Given the description of an element on the screen output the (x, y) to click on. 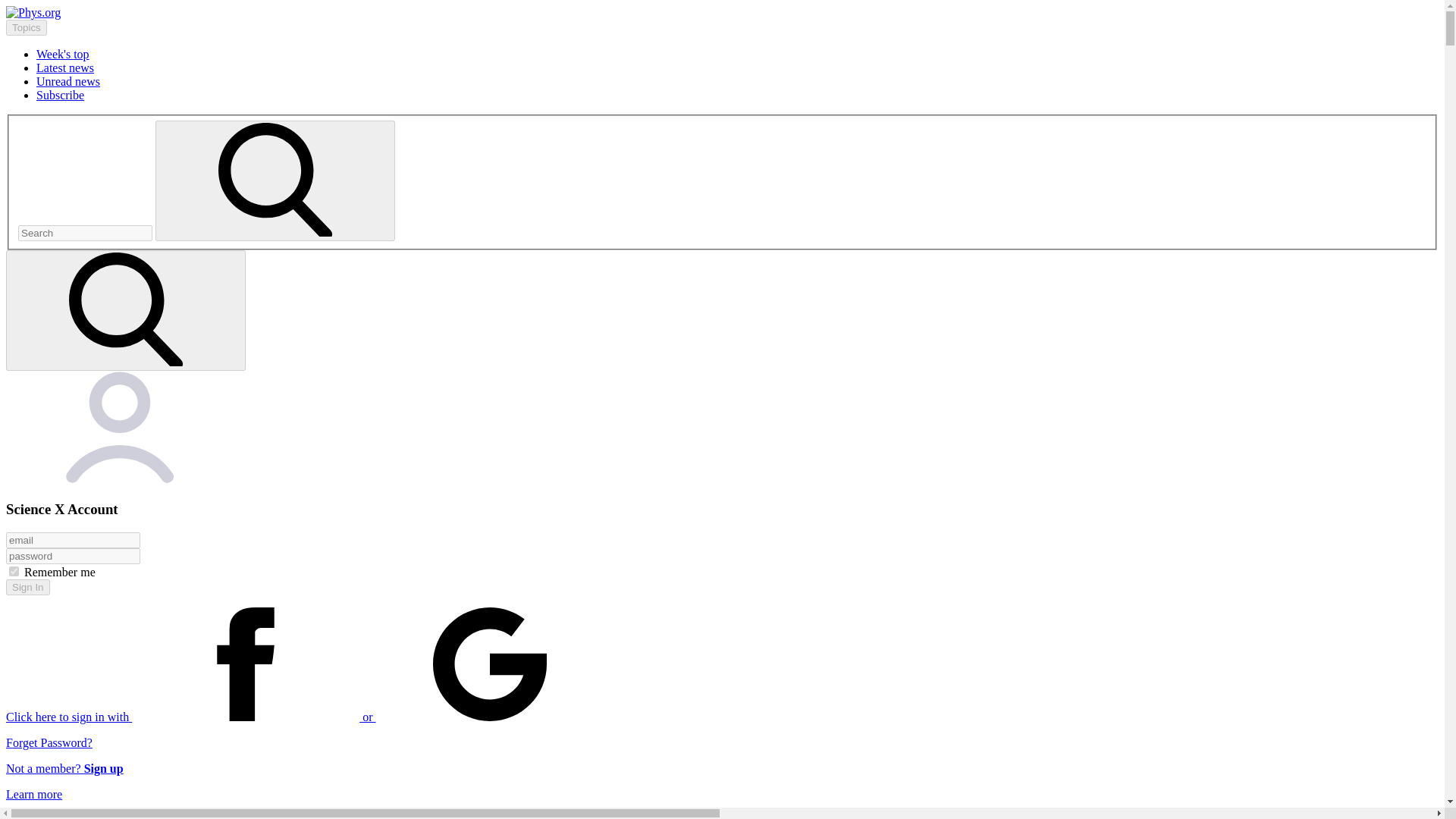
Click here to sign in with or (304, 716)
Nanotechnology (76, 816)
on (13, 571)
Subscribe (60, 94)
Not a member? Sign up (64, 768)
Learn more (33, 793)
Topics (25, 27)
Sign In (27, 587)
Forget Password? (49, 742)
Latest news (65, 67)
Unread news (68, 81)
Week's top (62, 53)
